Given the description of an element on the screen output the (x, y) to click on. 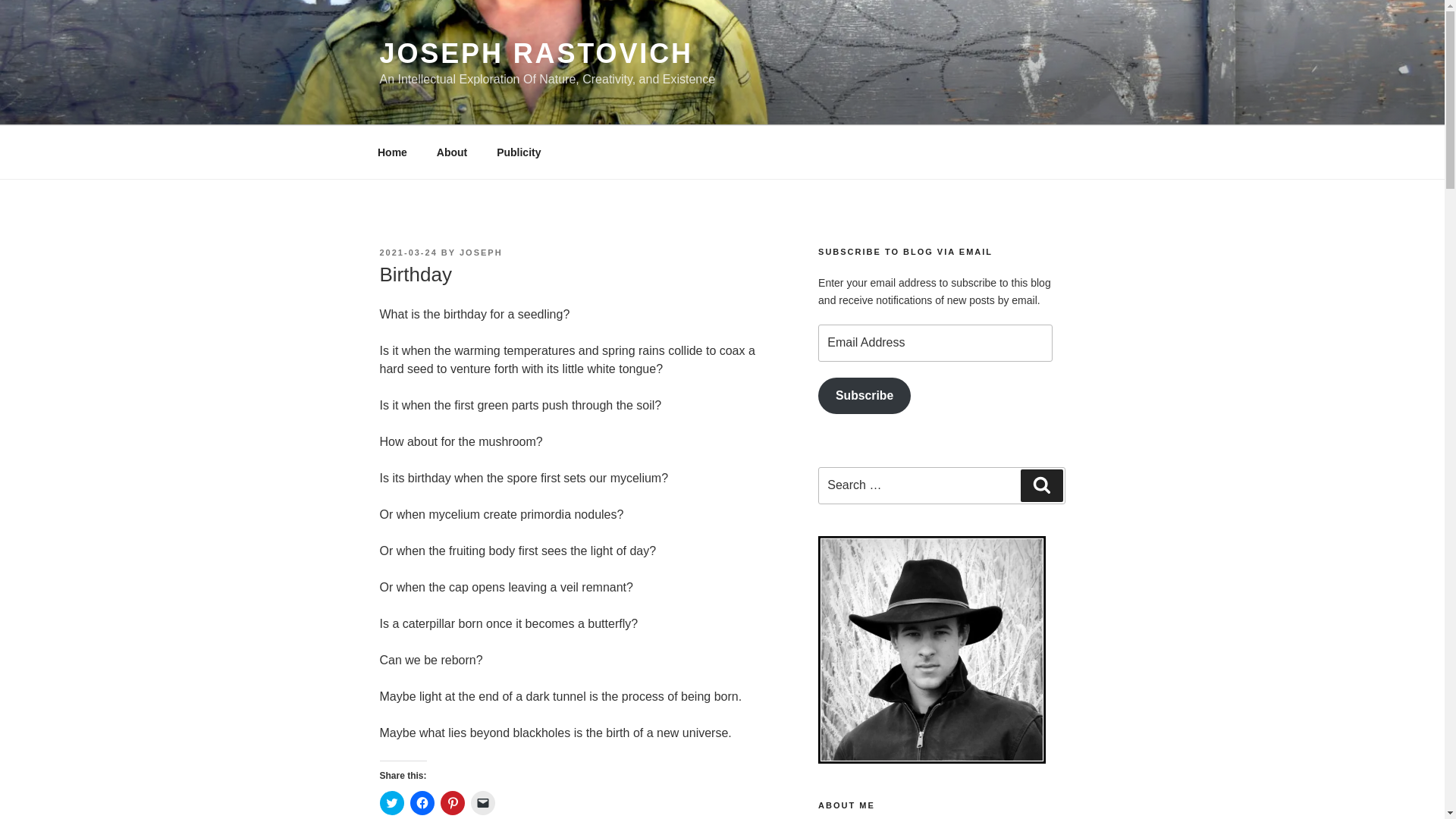
JOSEPH RASTOVICH (535, 52)
Publicity (518, 151)
Click to share on Twitter (390, 802)
Search (1041, 485)
JOSEPH (481, 252)
Click to share on Pinterest (451, 802)
About (451, 151)
2021-03-24 (407, 252)
Subscribe (864, 395)
Home (392, 151)
Click to email a link to a friend (482, 802)
Click to share on Facebook (421, 802)
